Given the description of an element on the screen output the (x, y) to click on. 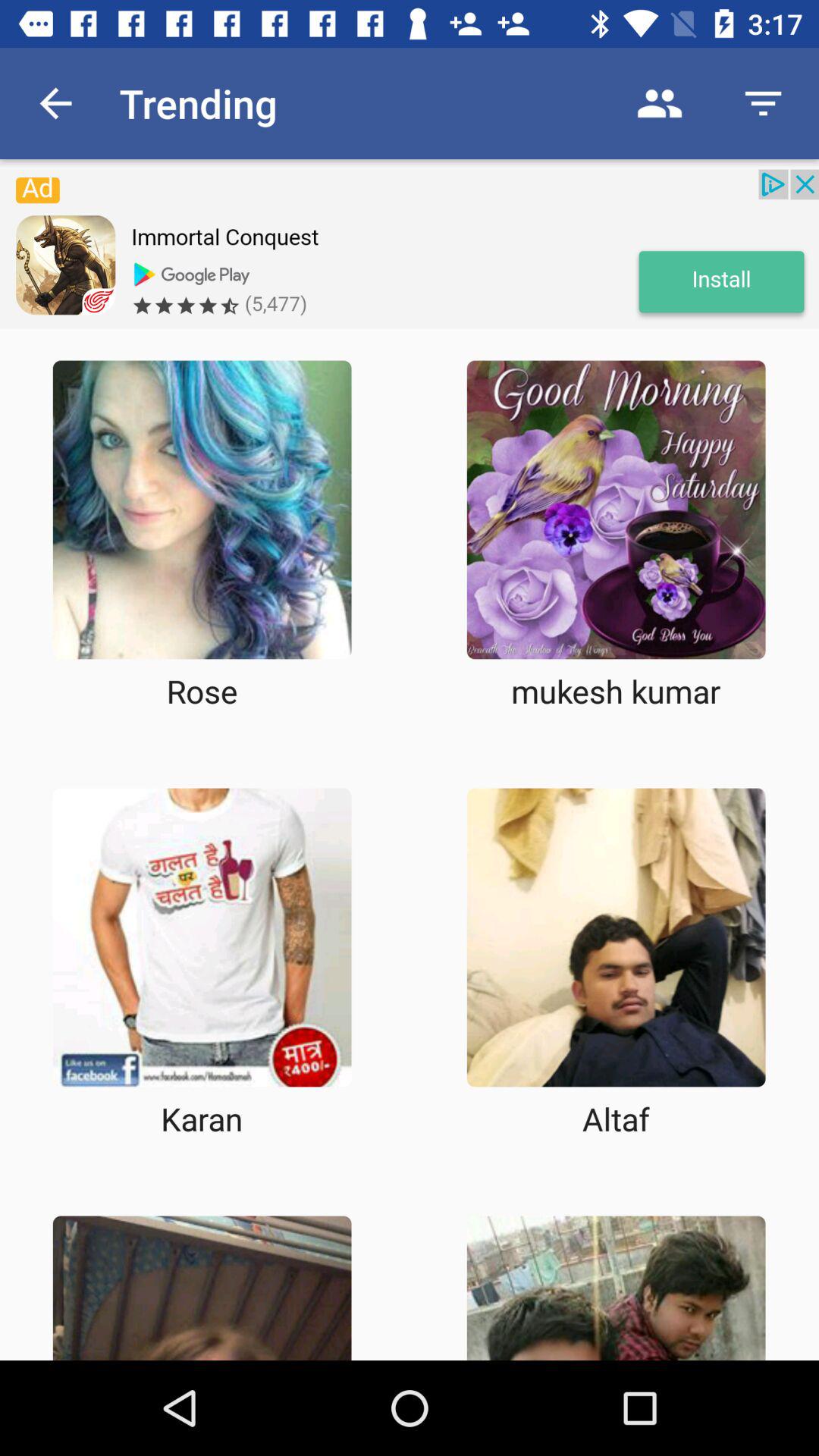
install app advertising (409, 248)
